Given the description of an element on the screen output the (x, y) to click on. 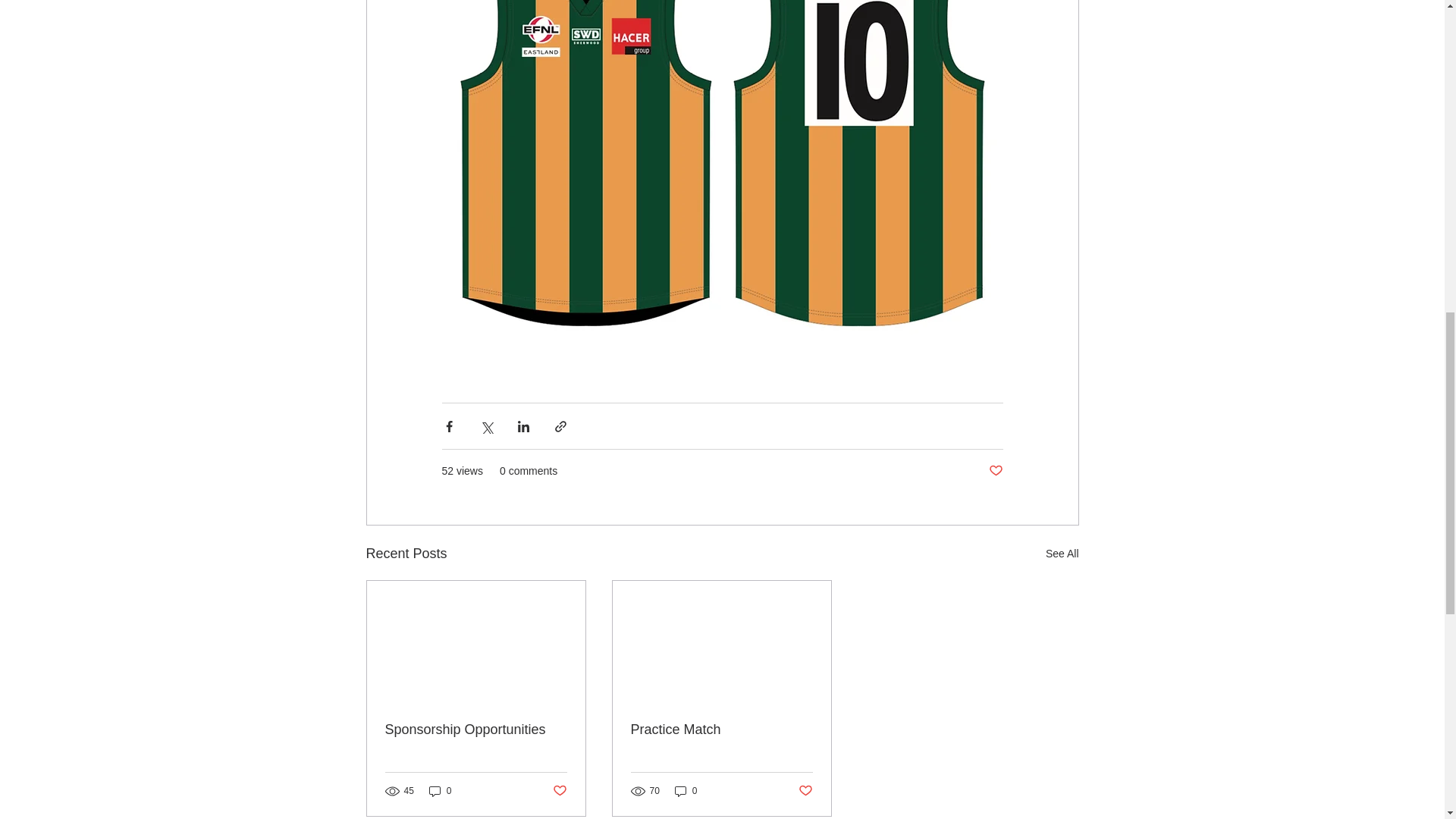
See All (1061, 553)
Sponsorship Opportunities (476, 729)
Post not marked as liked (995, 471)
0 (440, 790)
Post not marked as liked (558, 790)
